Given the description of an element on the screen output the (x, y) to click on. 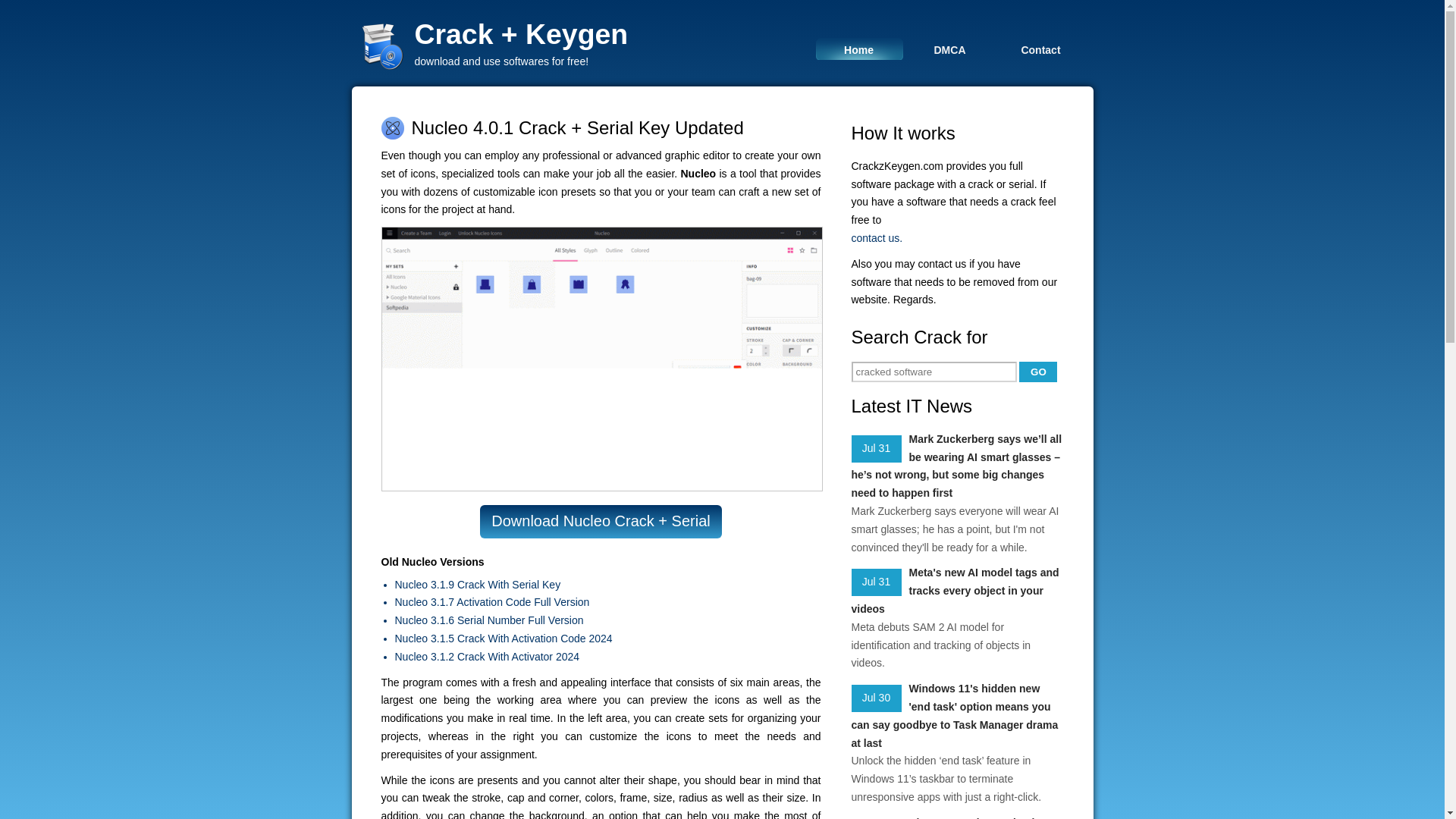
contact us. (956, 239)
DMCA (949, 48)
Nucleo 3.1.7 Activation Code Full Version (607, 602)
Nucleo 3.1.9 Crack With Serial Key (607, 585)
Nucleo 3.1.5 Crack With Activation Code 2024 (607, 638)
Home (858, 48)
Contact (1040, 48)
GO (1038, 371)
Nucleo 3.1.6 Serial Number Full Version (607, 620)
GO (1038, 371)
Nucleo 3.1.2 Crack With Activator 2024 (607, 657)
